Given the description of an element on the screen output the (x, y) to click on. 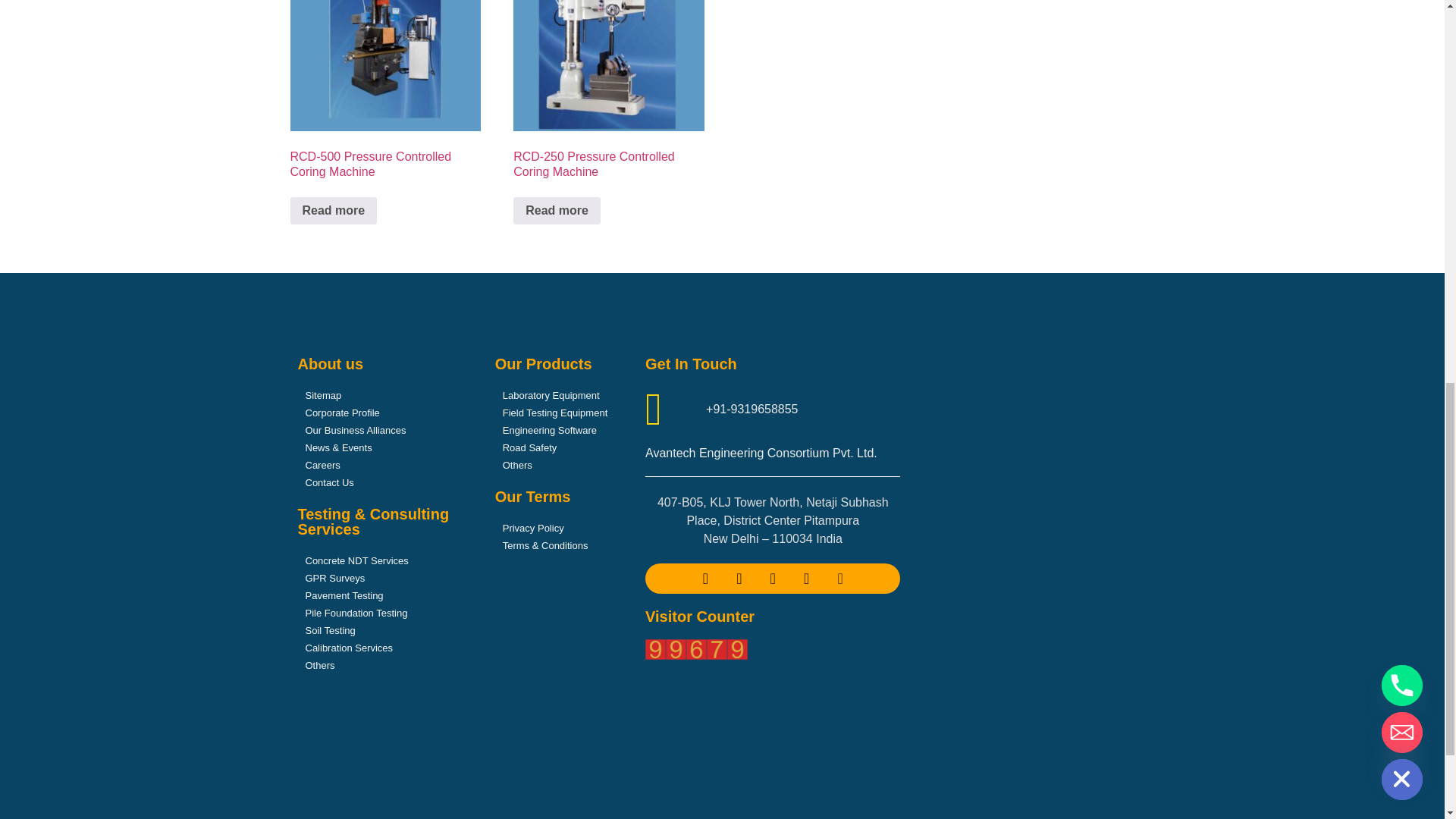
web counter (696, 649)
web counter (696, 655)
